Given the description of an element on the screen output the (x, y) to click on. 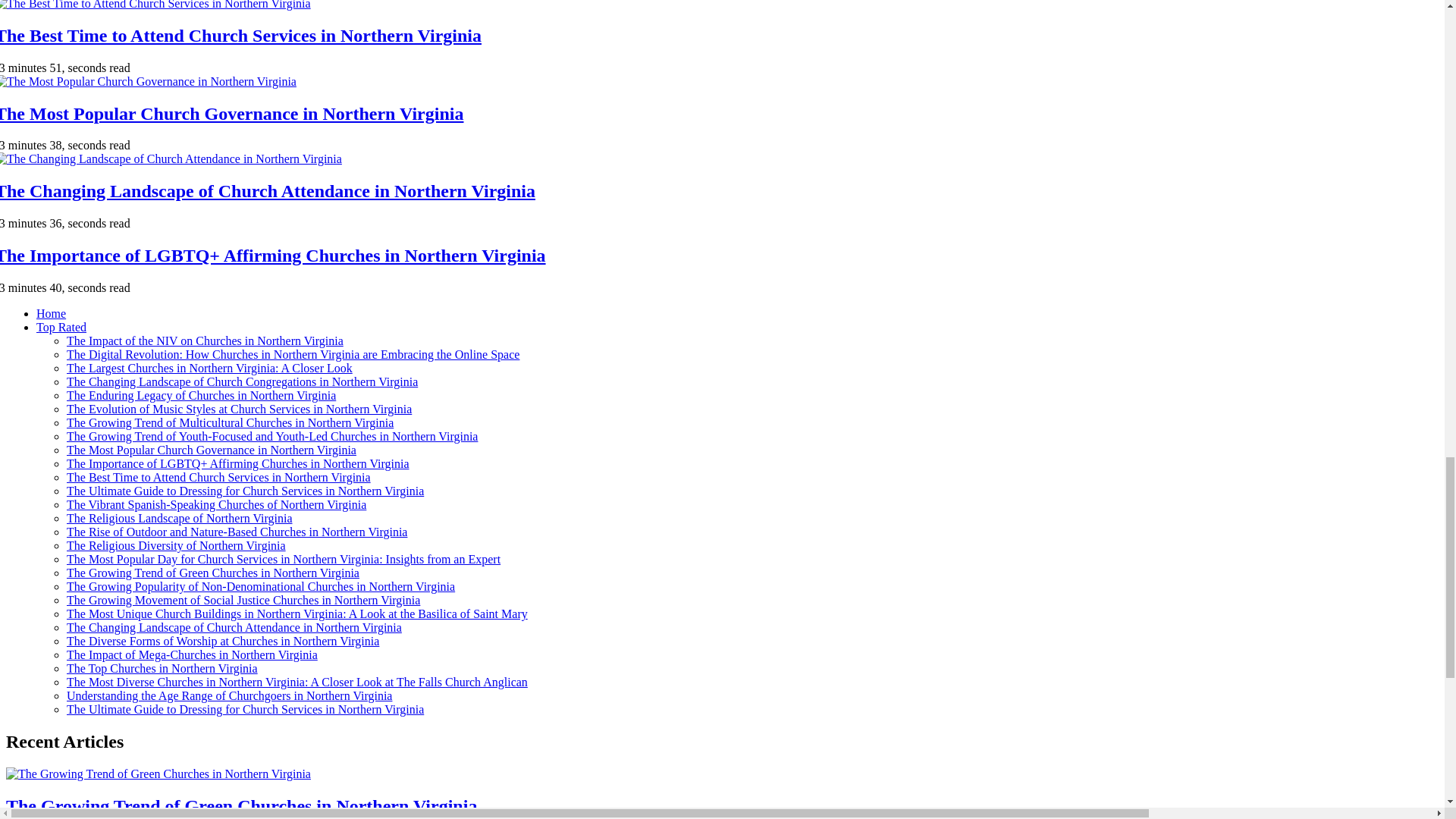
The Best Time to Attend Church Services in Northern Virginia (240, 35)
The Vibrant Spanish-Speaking Churches of Northern Virginia (216, 504)
The Religious Diversity of Northern Virginia (175, 545)
Home (50, 313)
The Impact of the NIV on Churches in Northern Virginia (204, 340)
The Most Popular Church Governance in Northern Virginia (211, 449)
The Best Time to Attend Church Services in Northern Virginia (218, 477)
The Enduring Legacy of Churches in Northern Virginia (201, 395)
The Most Popular Church Governance in Northern Virginia (231, 113)
